Given the description of an element on the screen output the (x, y) to click on. 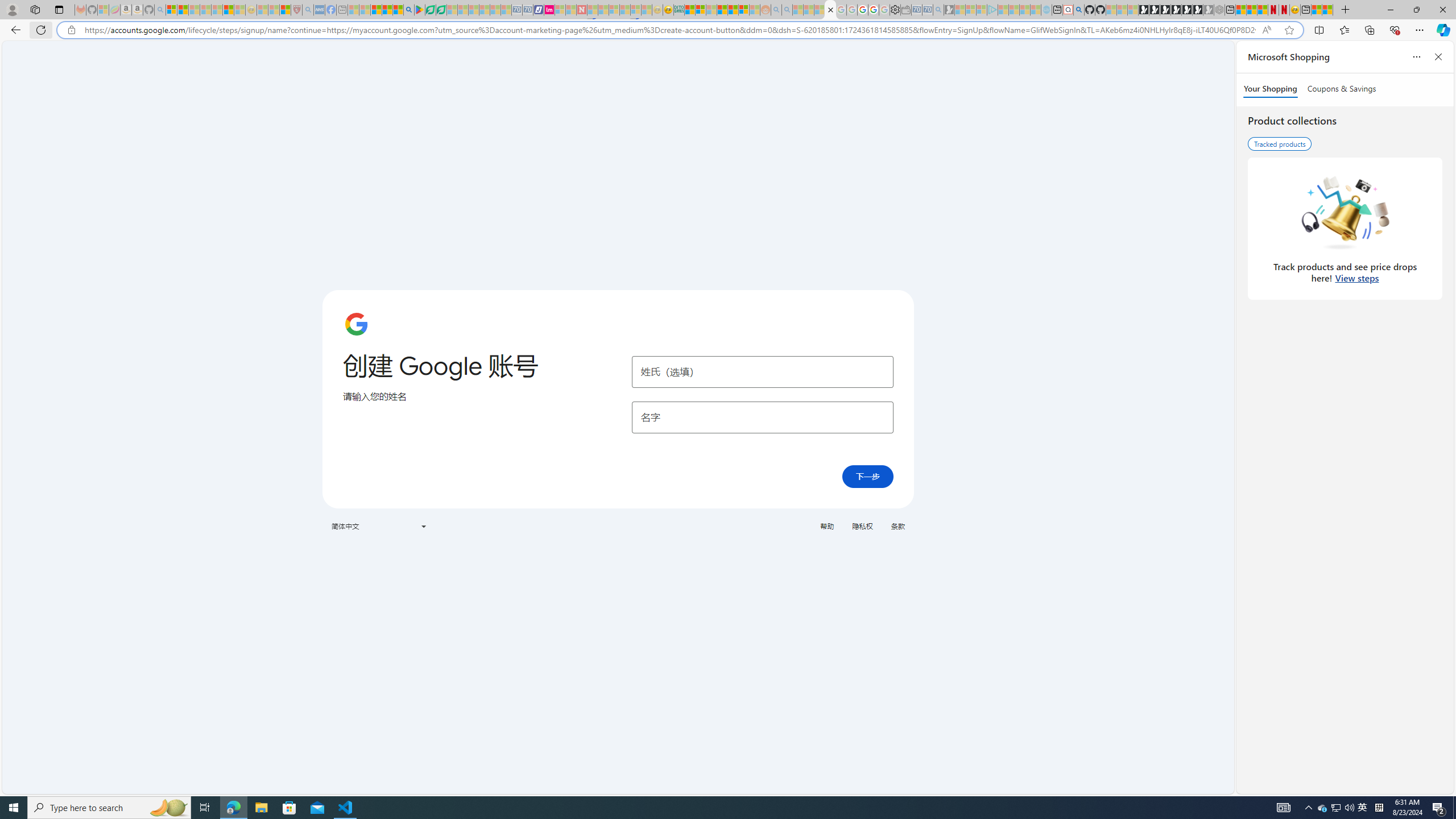
google - Search (408, 9)
The Weather Channel - MSN - Sleeping (194, 9)
Wallet - Sleeping (905, 9)
